Given the description of an element on the screen output the (x, y) to click on. 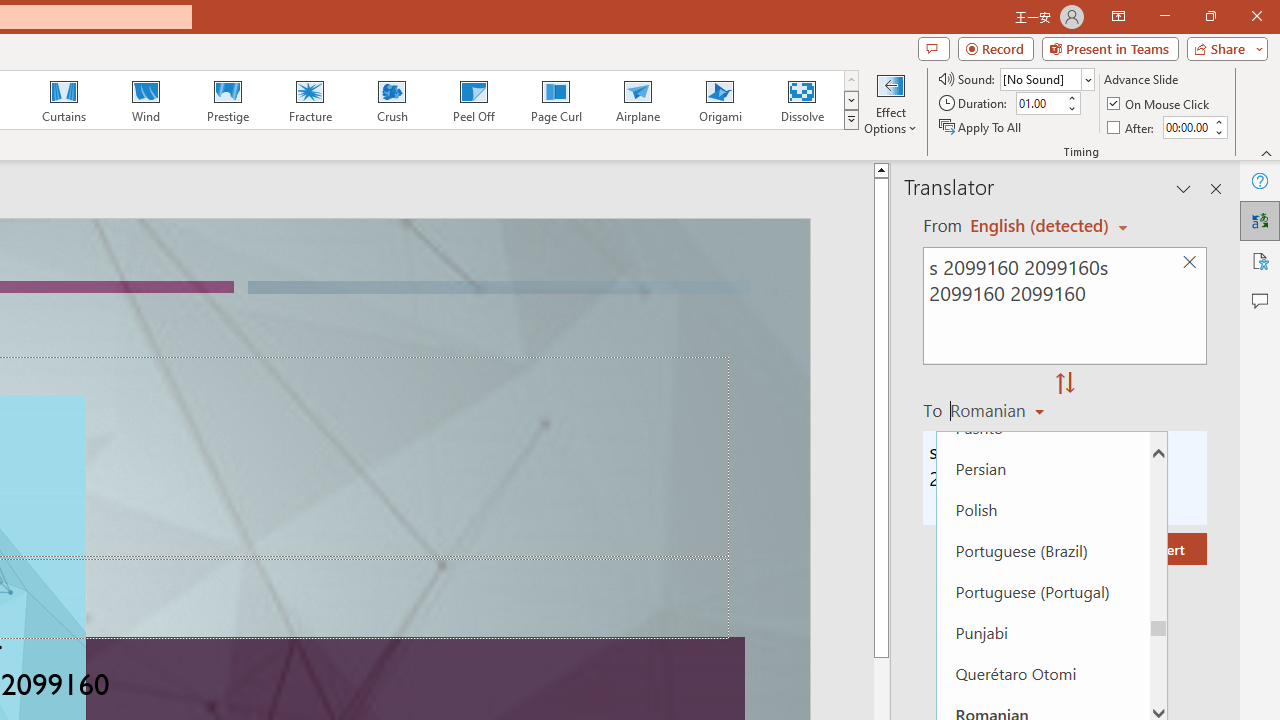
Pashto (1042, 426)
On Mouse Click (1159, 103)
Norwegian (1042, 303)
Duration (1039, 103)
Effect Options (890, 102)
Crush (391, 100)
